Given the description of an element on the screen output the (x, y) to click on. 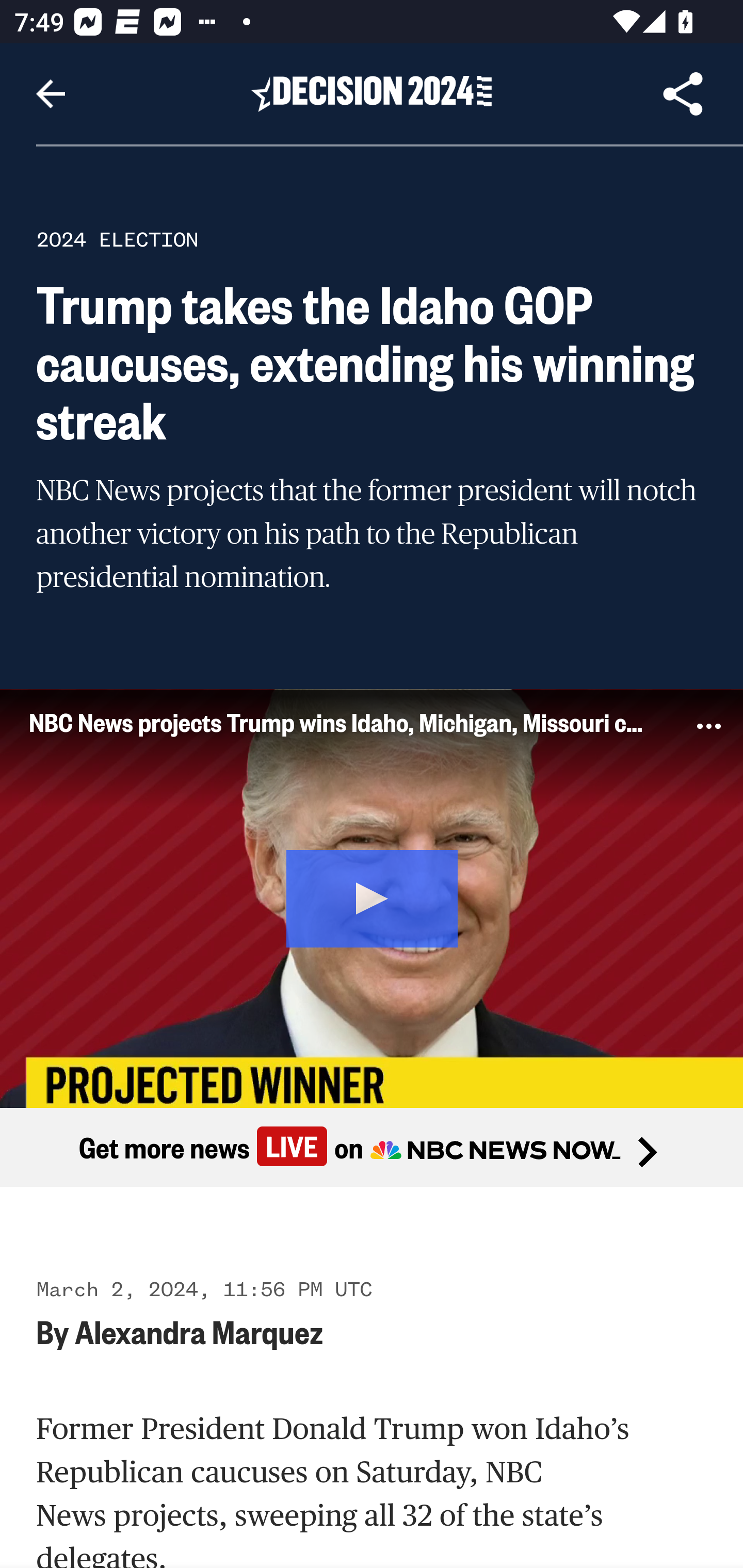
Navigate up (50, 93)
Share Article, button (683, 94)
Header, Decision 2024 (371, 93)
2024 ELECTION (117, 239)
Video Player Unable to play media. Play   (371, 897)
Play (372, 896)
Get more news Live on Get more news Live on (371, 1147)
